Given the description of an element on the screen output the (x, y) to click on. 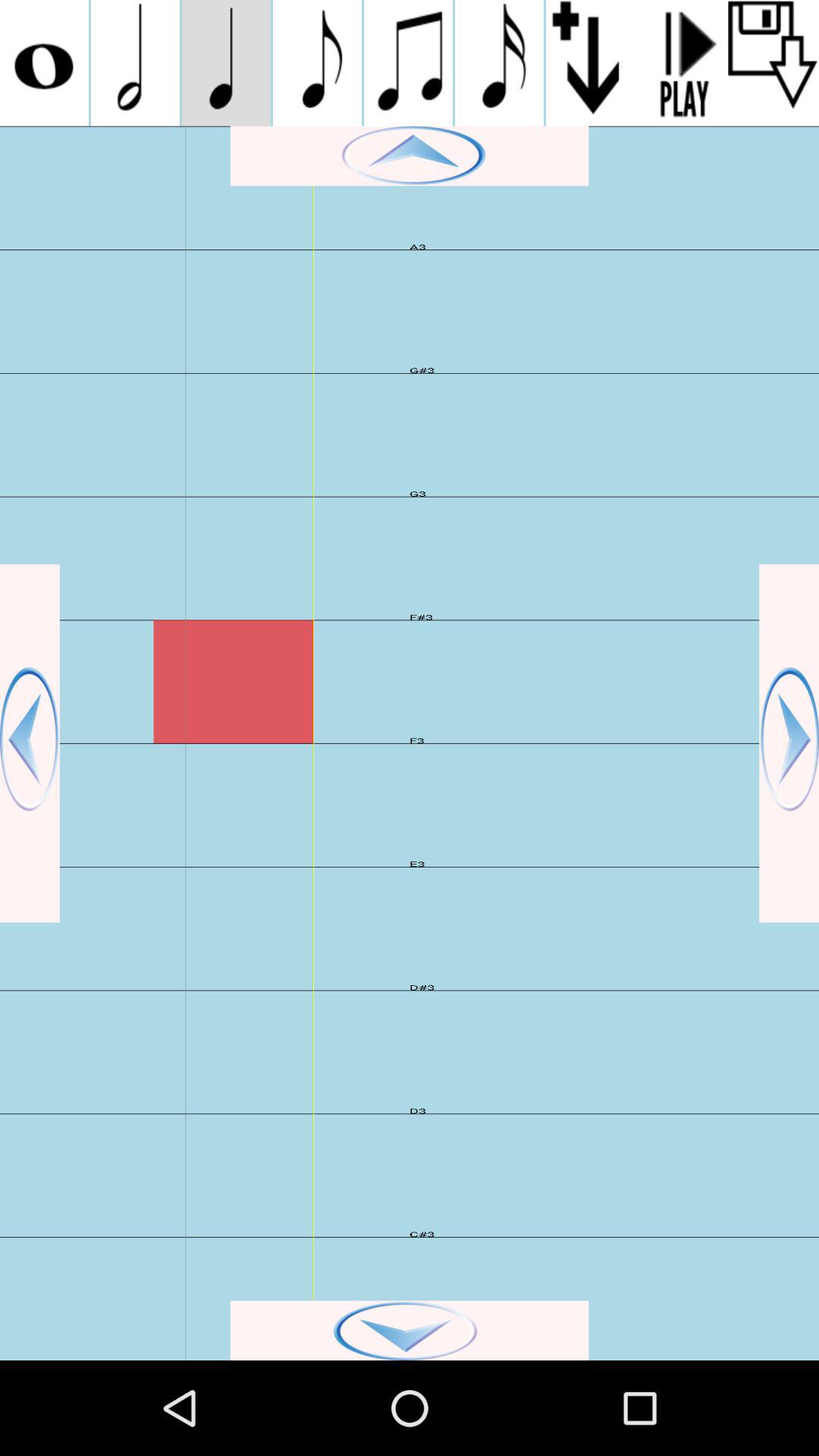
whole note (44, 63)
